Given the description of an element on the screen output the (x, y) to click on. 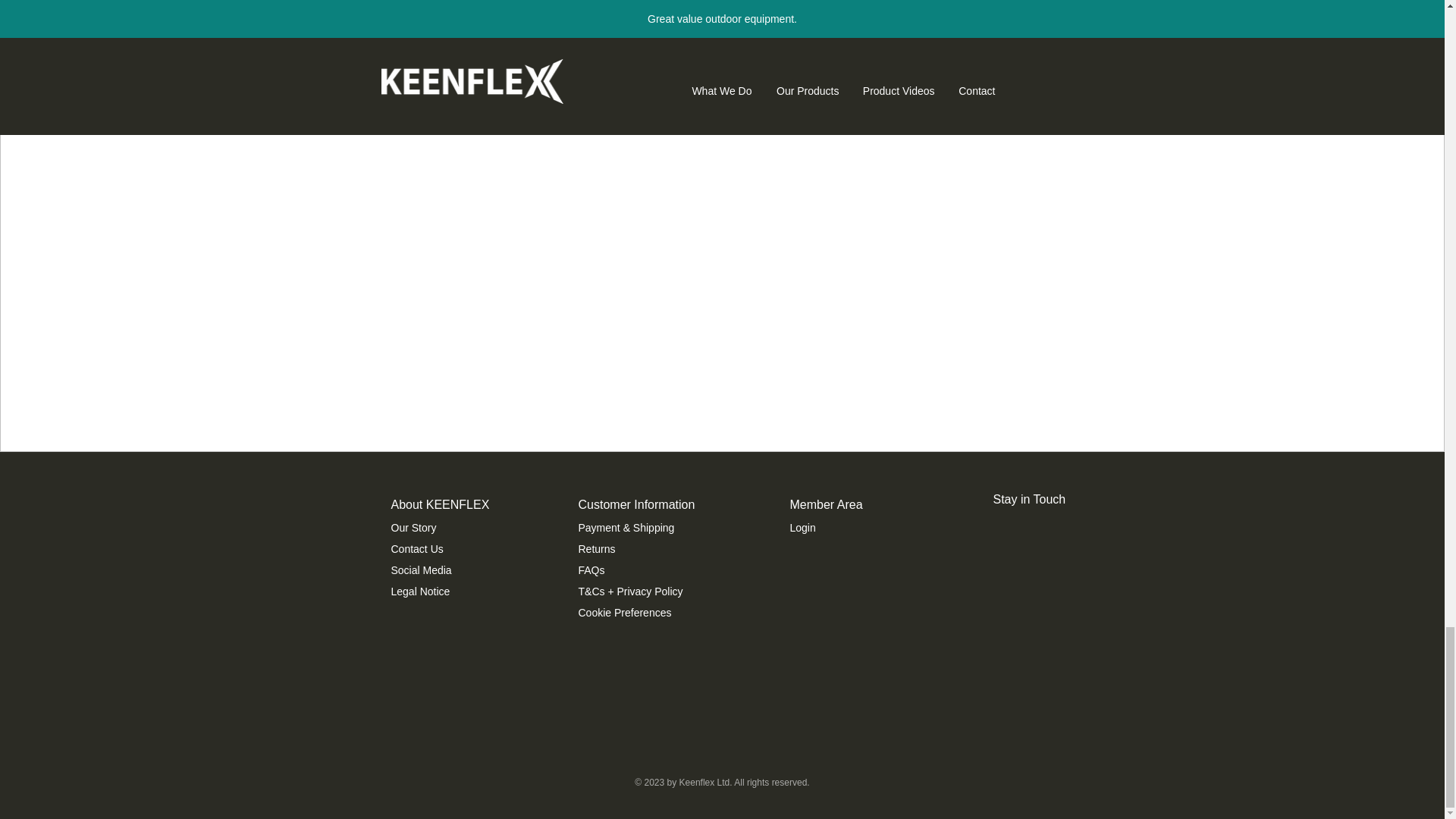
Our Story (413, 527)
Login (802, 527)
Social Media (421, 570)
